Given the description of an element on the screen output the (x, y) to click on. 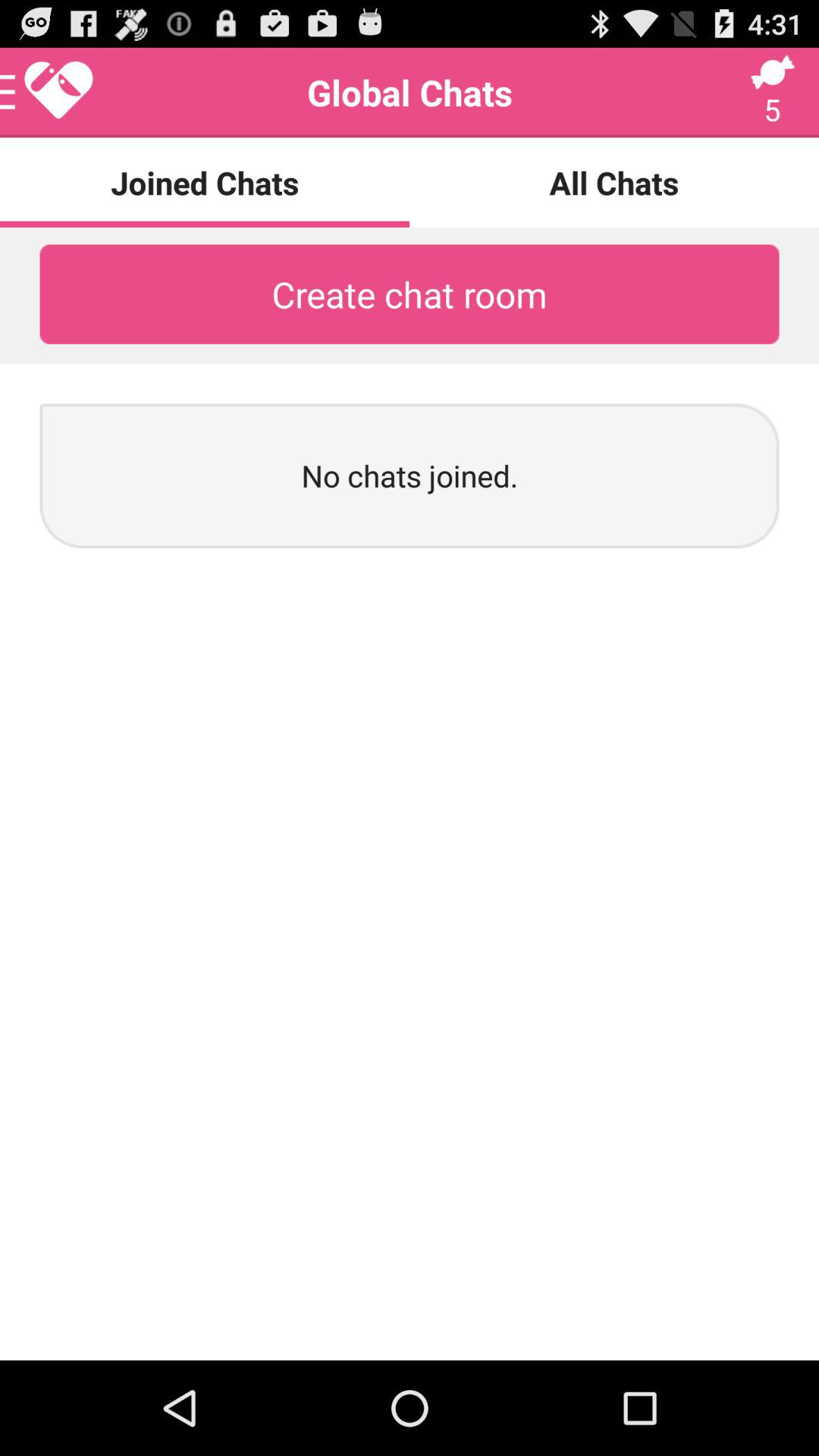
press the icon next to all chats icon (47, 92)
